Given the description of an element on the screen output the (x, y) to click on. 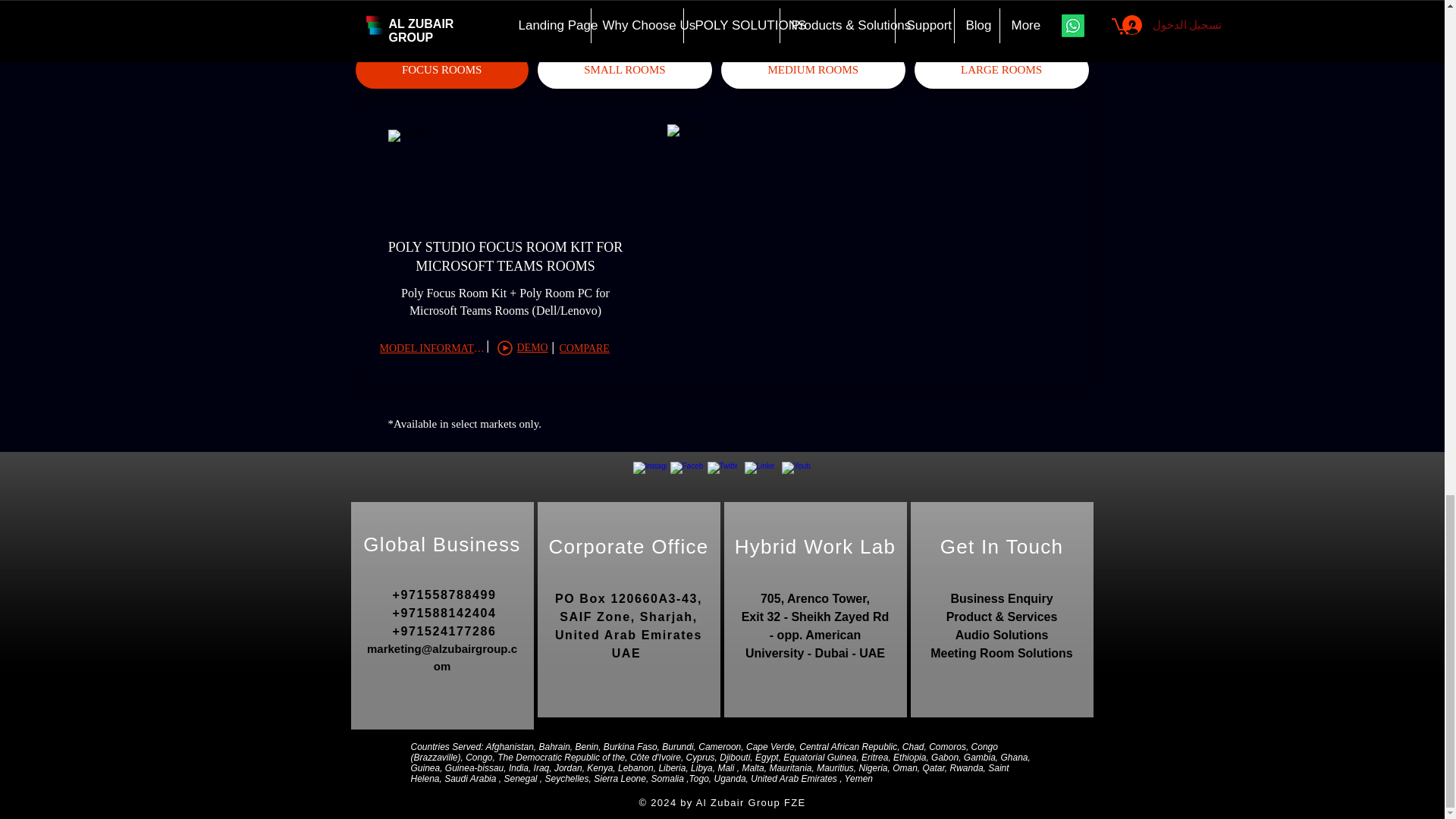
Large Rooms (938, 3)
MODEL INFORMATION (432, 348)
COMPARE (591, 348)
Small Rooms (647, 3)
Poly MTR (869, 238)
DEMO (523, 347)
Poly MTR (505, 175)
Medium Rooms (809, 3)
Focus Rooms (497, 7)
